Given the description of an element on the screen output the (x, y) to click on. 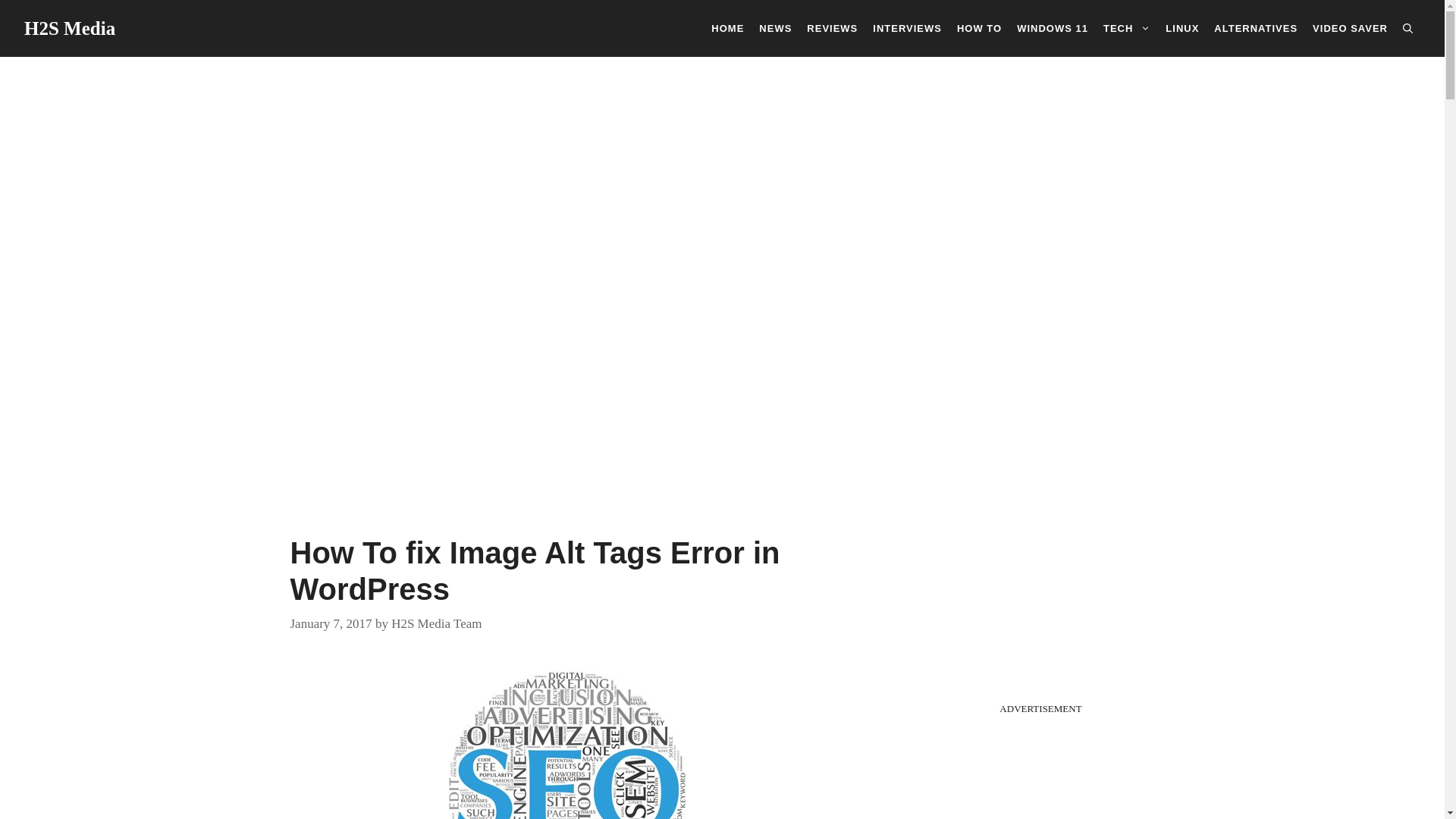
H2S Media Team (436, 622)
ALTERNATIVES (1255, 27)
NEWS (775, 27)
HOME (727, 27)
VIDEO SAVER (1349, 27)
TECH (1126, 27)
LINUX (1182, 27)
HOW TO (979, 27)
View all posts by H2S Media Team (436, 622)
